Given the description of an element on the screen output the (x, y) to click on. 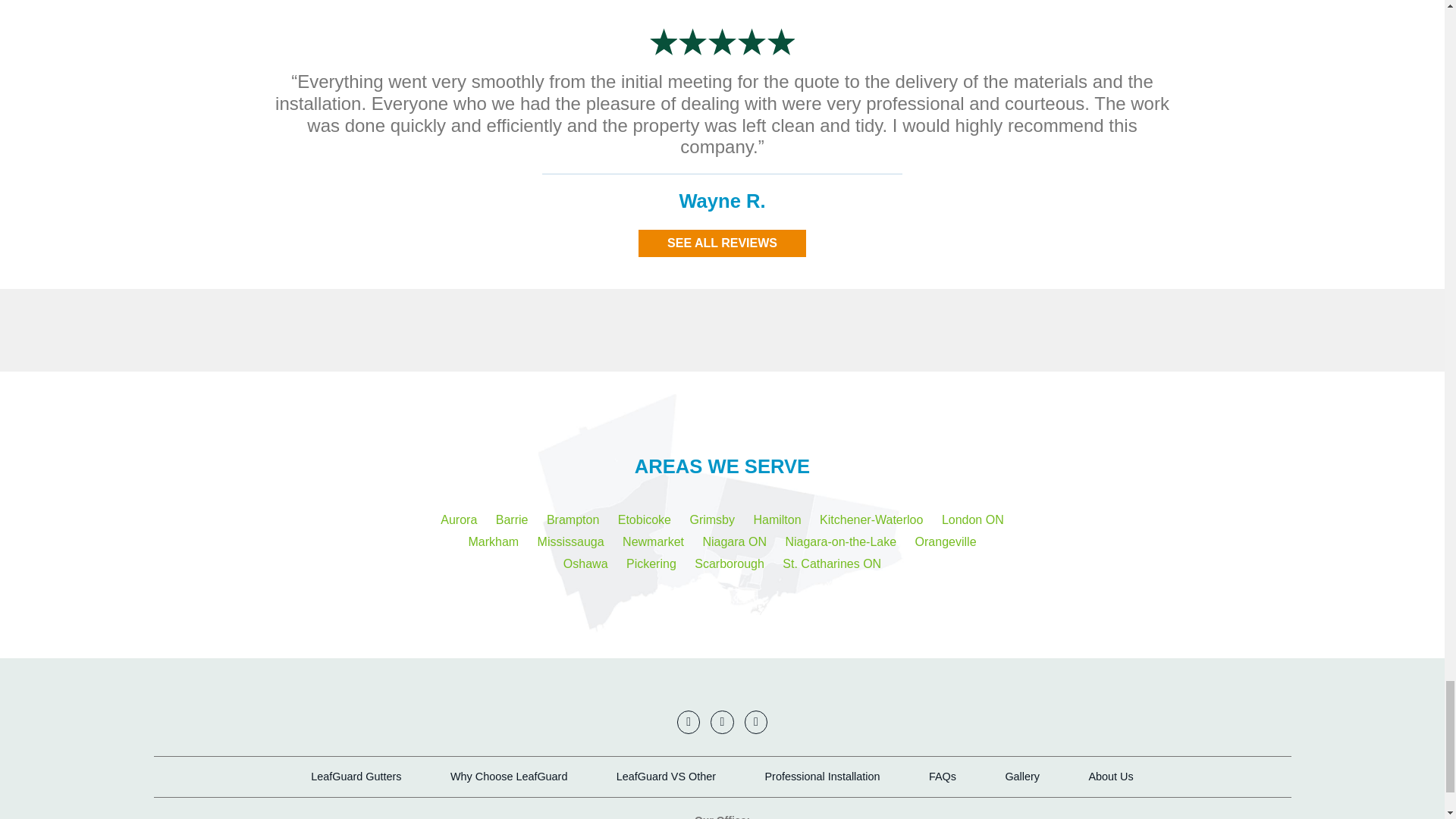
Facebook (721, 721)
Instagram (755, 721)
YouTube (688, 721)
